Given the description of an element on the screen output the (x, y) to click on. 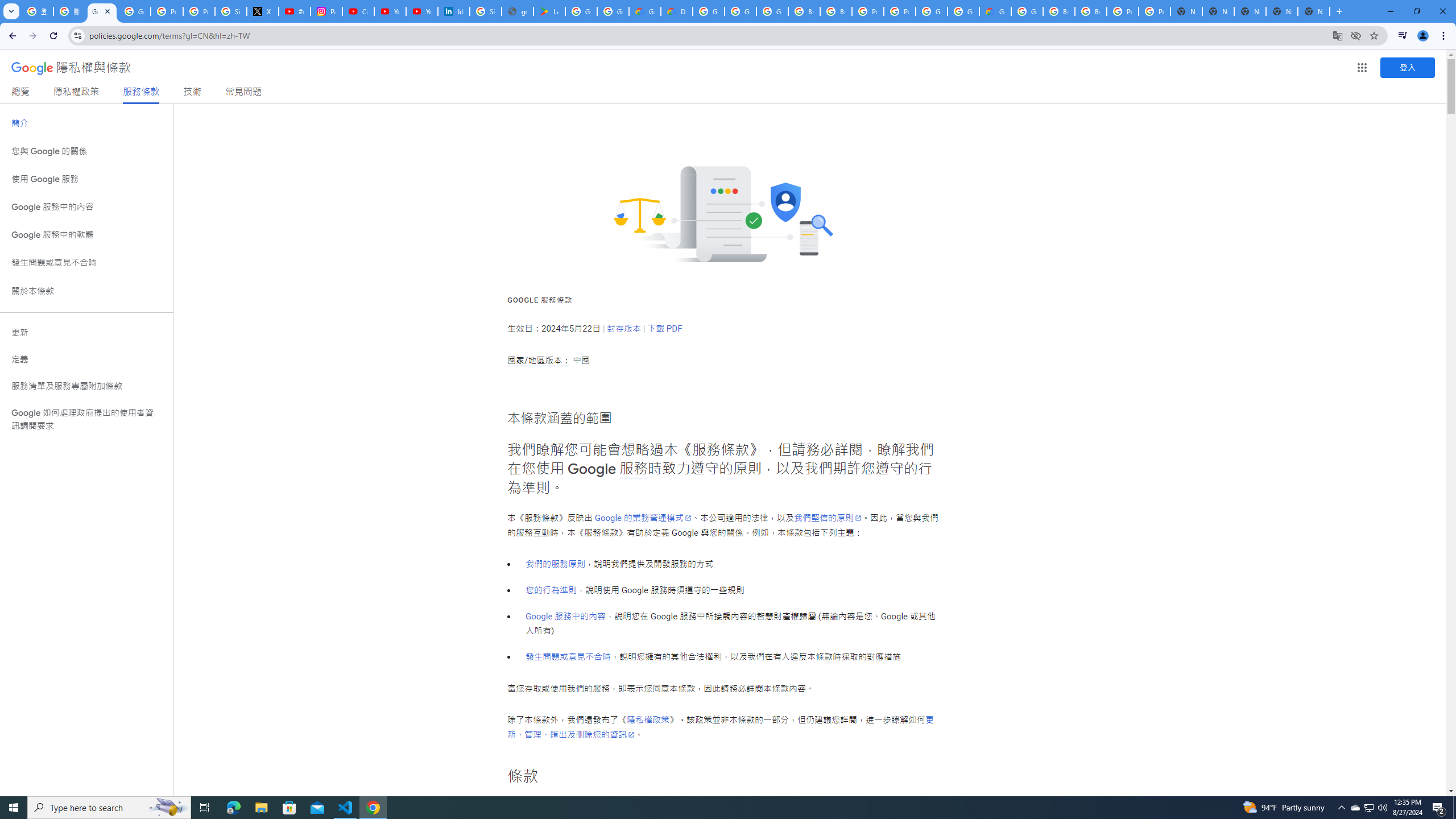
Browse Chrome as a guest - Computer - Google Chrome Help (804, 11)
New Tab (1313, 11)
Privacy Help Center - Policies Help (198, 11)
Browse Chrome as a guest - Computer - Google Chrome Help (1059, 11)
